Given the description of an element on the screen output the (x, y) to click on. 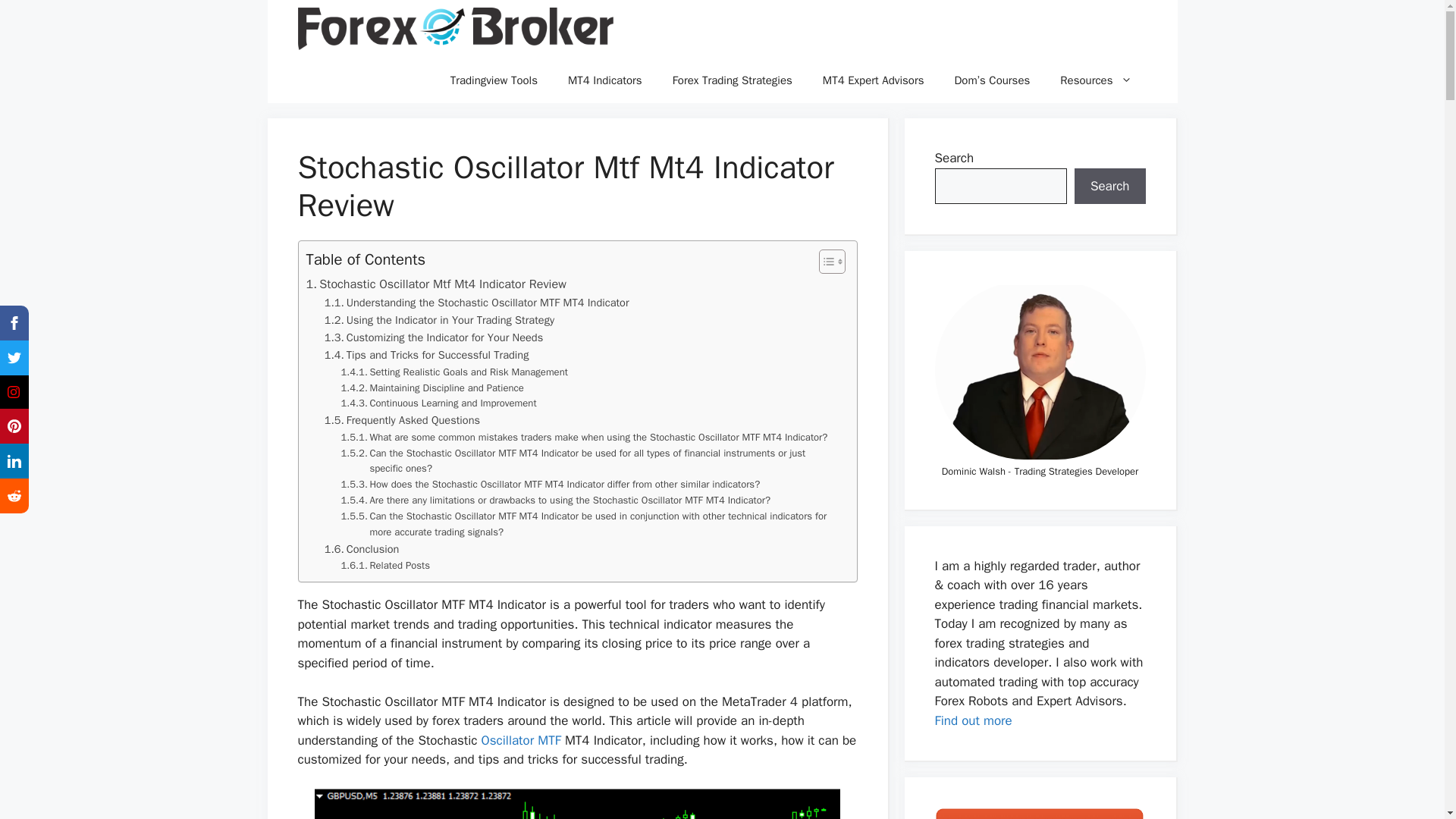
Forexobroker (454, 28)
Tips and Tricks for Successful Trading (426, 354)
Stochastic Oscillator Mtf Mt4 Indicator Review (435, 284)
Using the Indicator in Your Trading Strategy (439, 320)
Related Posts (385, 565)
Understanding the Stochastic Oscillator MTF MT4 Indicator (476, 303)
